Given the description of an element on the screen output the (x, y) to click on. 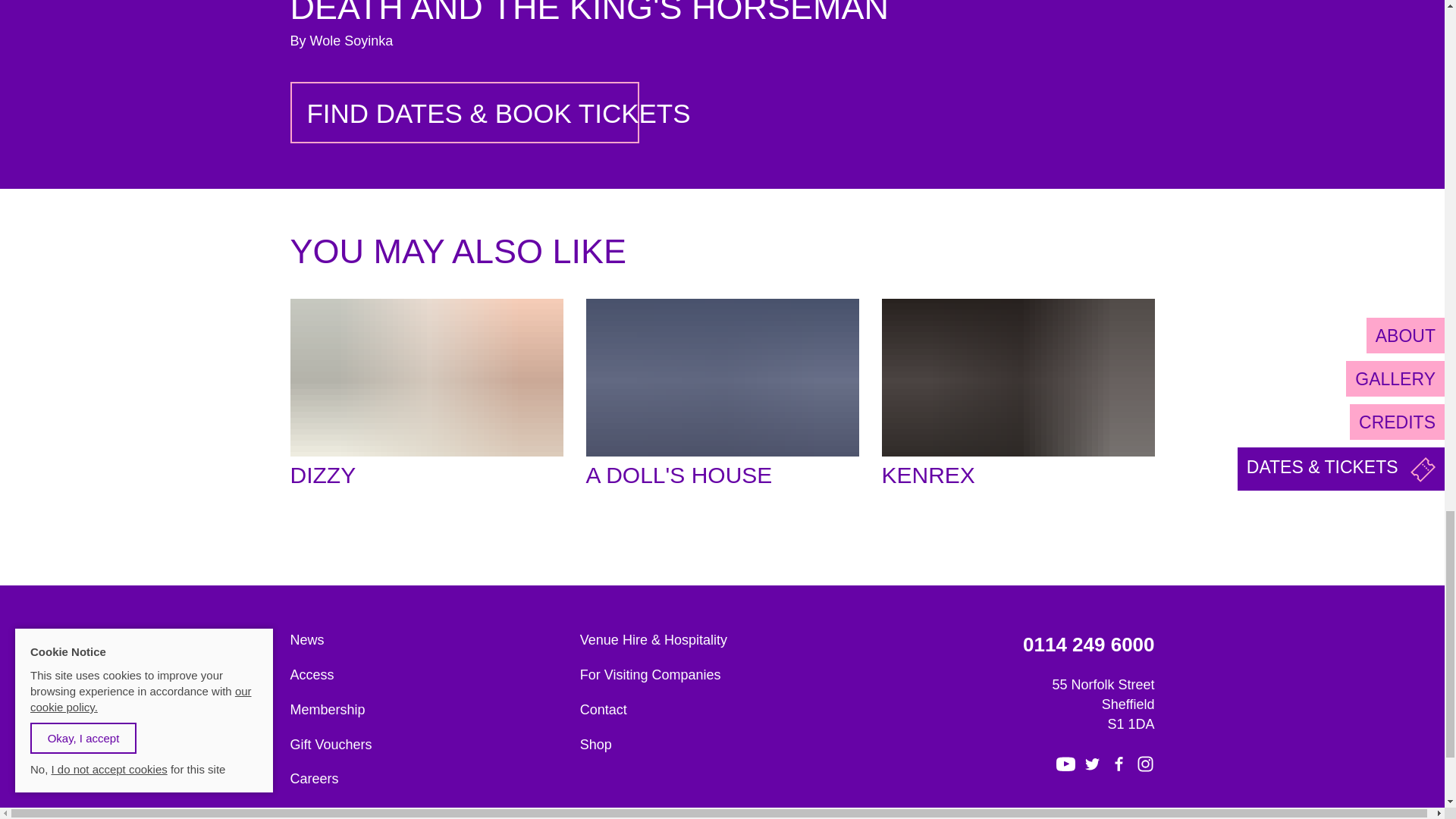
DIZZY (425, 395)
Careers (427, 779)
KENREX (1017, 395)
For Visiting Companies (717, 675)
Membership (427, 710)
Contact (717, 710)
News (427, 640)
Gift Vouchers (427, 745)
Access (427, 675)
A DOLL'S HOUSE (722, 395)
